Given the description of an element on the screen output the (x, y) to click on. 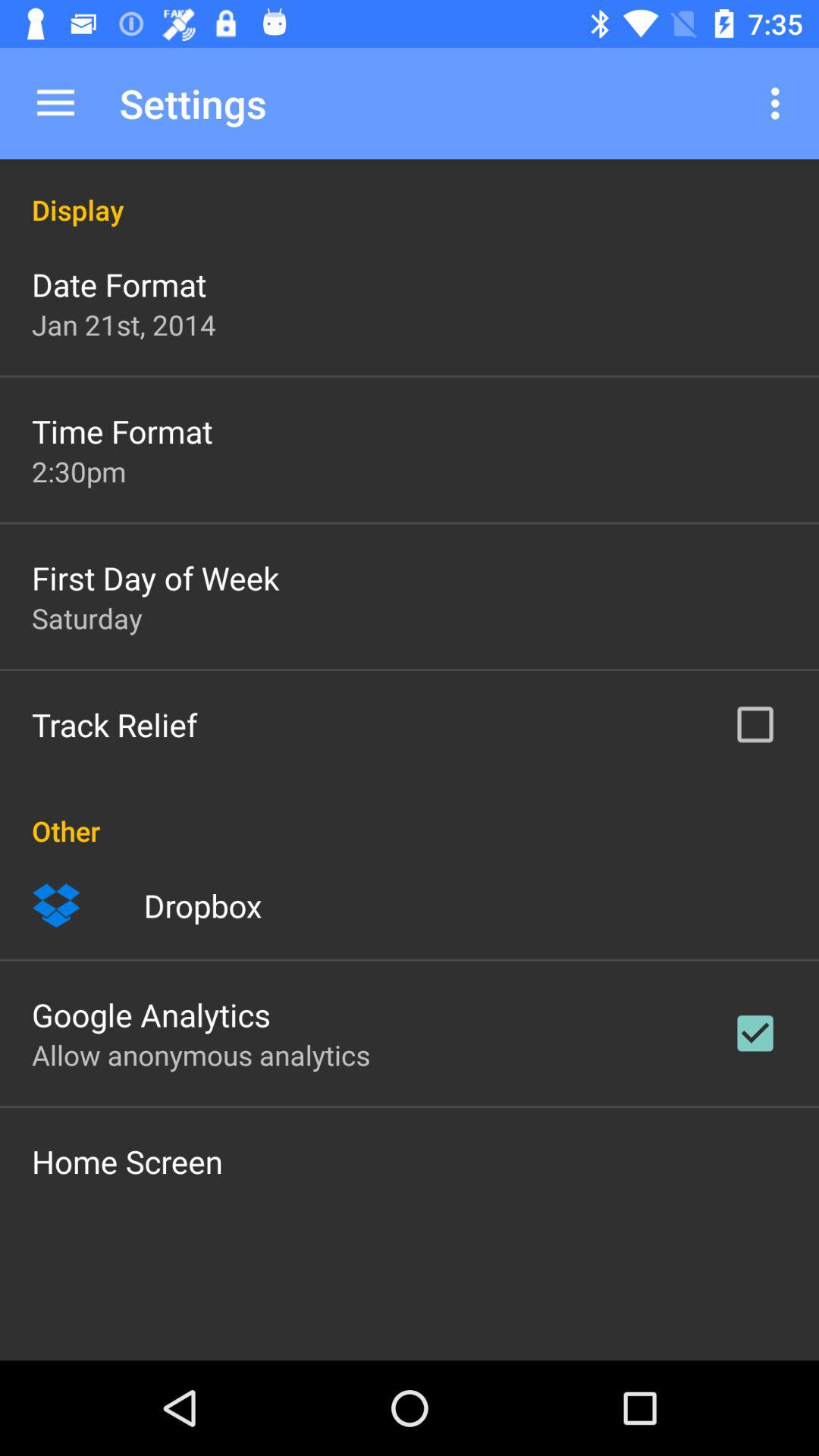
turn off the item below 2:30pm item (155, 577)
